Given the description of an element on the screen output the (x, y) to click on. 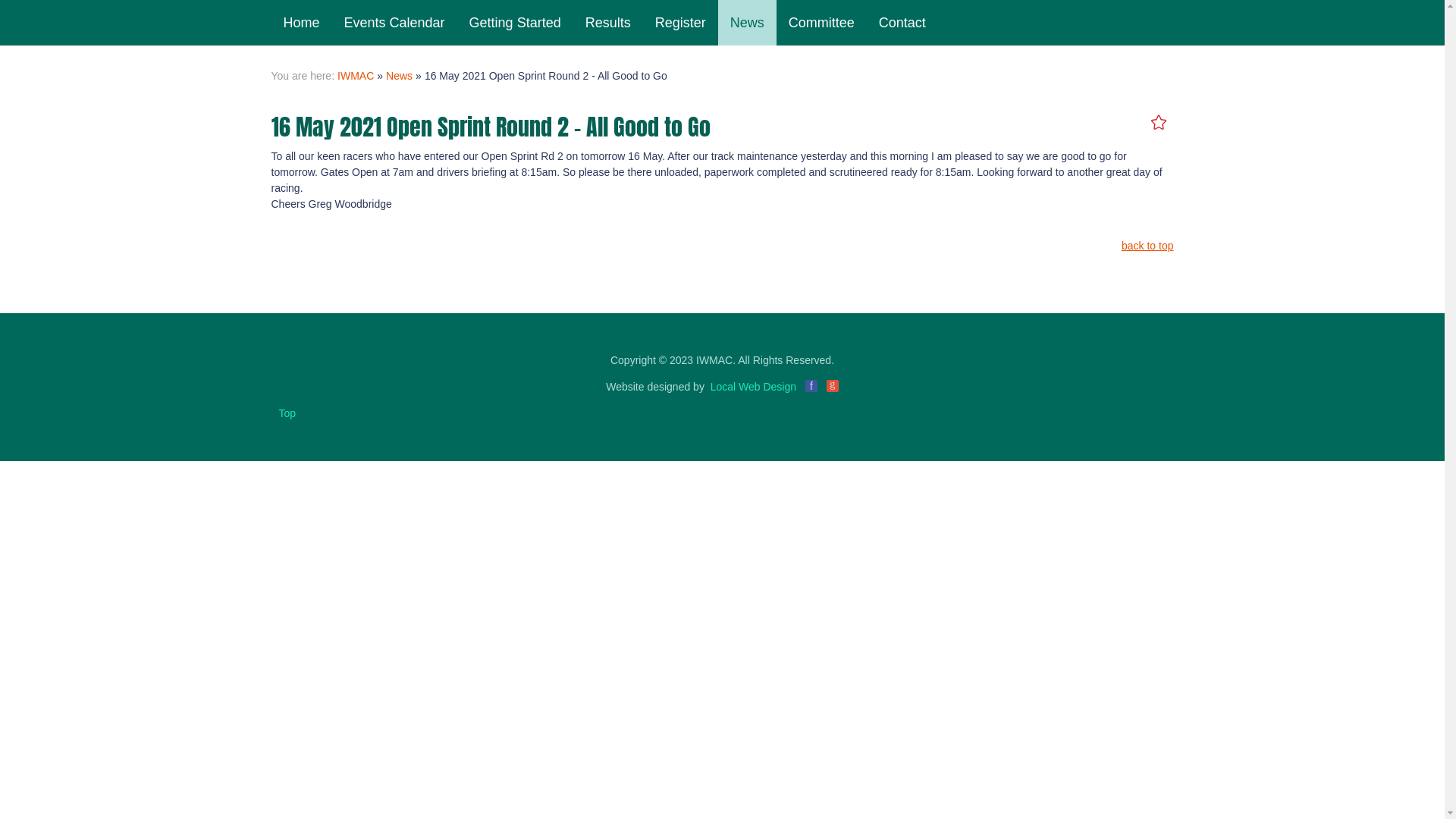
Contact Element type: text (902, 22)
Results Element type: text (608, 22)
Register Element type: text (680, 22)
News Element type: text (398, 75)
IWMAC Element type: text (355, 75)
Committee Element type: text (821, 22)
Top Element type: text (287, 413)
back to top Element type: text (1147, 245)
Events Calendar Element type: text (394, 22)
f Element type: text (811, 385)
Home Element type: text (301, 22)
g Element type: text (832, 385)
News Element type: text (747, 22)
Local Web Design Element type: text (753, 386)
Getting Started Element type: text (515, 22)
